Given the description of an element on the screen output the (x, y) to click on. 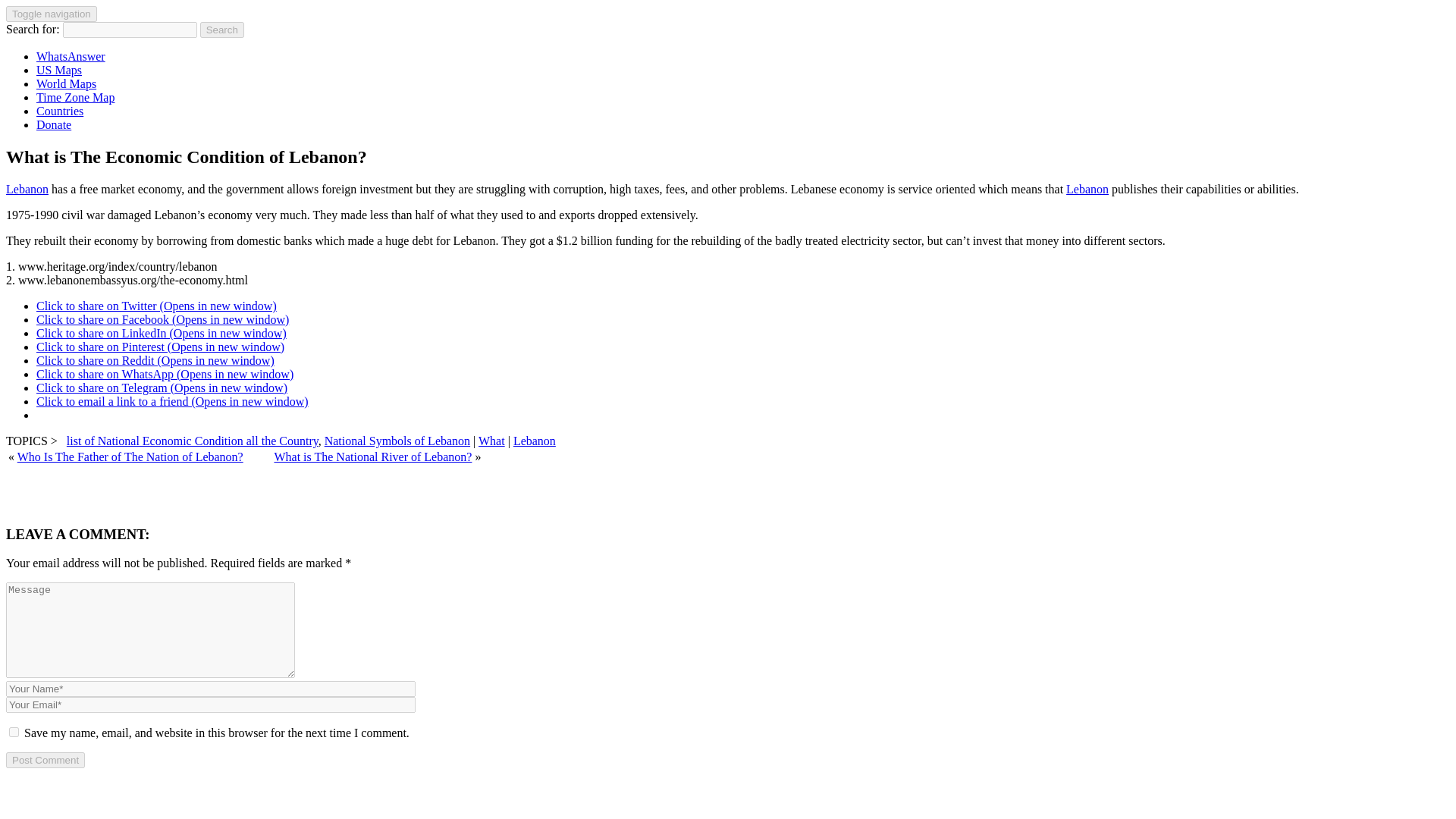
What (492, 440)
yes (13, 732)
What is The National River of Lebanon? (372, 456)
Lebanon (534, 440)
Click to share on WhatsApp (165, 373)
Post Comment (44, 760)
Click to share on Facebook (162, 318)
Search (222, 29)
WhatsAnswer (70, 56)
US Maps (58, 69)
